Given the description of an element on the screen output the (x, y) to click on. 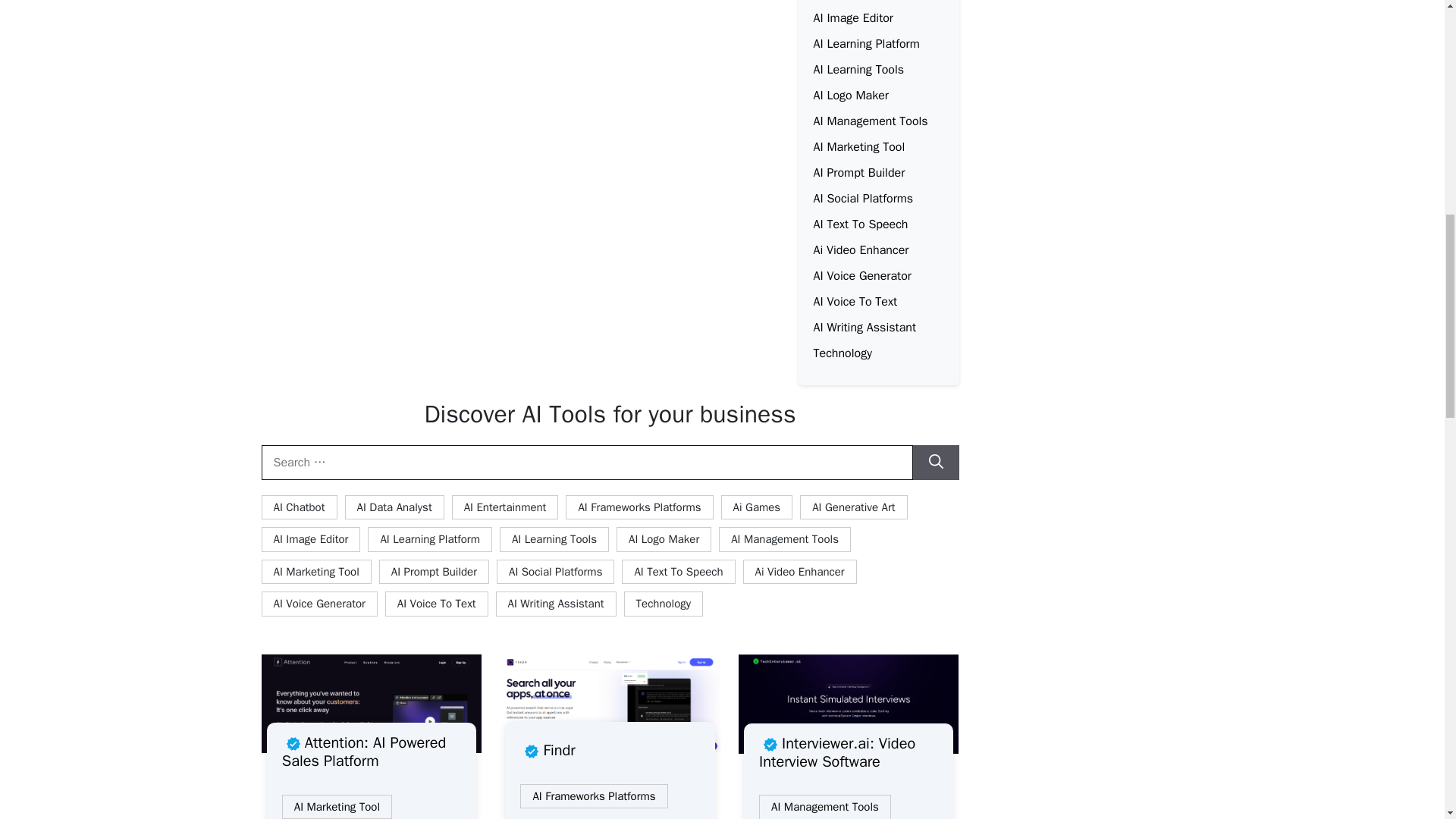
AI Voice Generator (861, 275)
AI Text To Speech (859, 224)
AI Learning Tools (858, 69)
Findr (547, 751)
AI Management Tools (869, 120)
Ai Video Enhancer (860, 249)
Technology (841, 353)
AI Learning Platform (865, 43)
AI Marketing Tool (337, 807)
AI Writing Assistant (863, 327)
AI Logo Maker (850, 95)
AI Prompt Builder (858, 172)
AI Image Editor (852, 17)
Attention: AI Powered Sales Platform (371, 751)
AI Marketing Tool (858, 146)
